Given the description of an element on the screen output the (x, y) to click on. 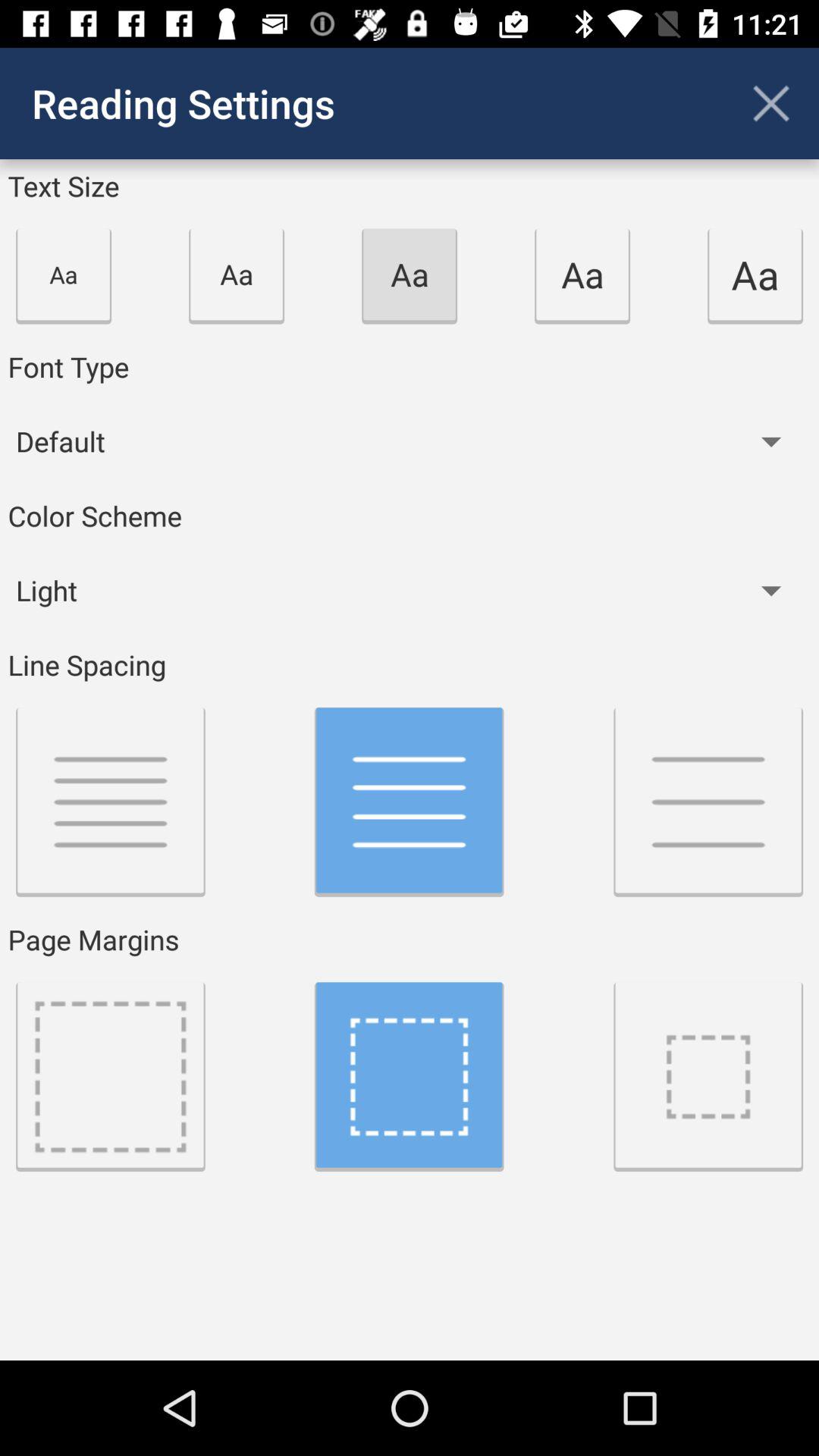
launch app next to reading settings icon (771, 103)
